Given the description of an element on the screen output the (x, y) to click on. 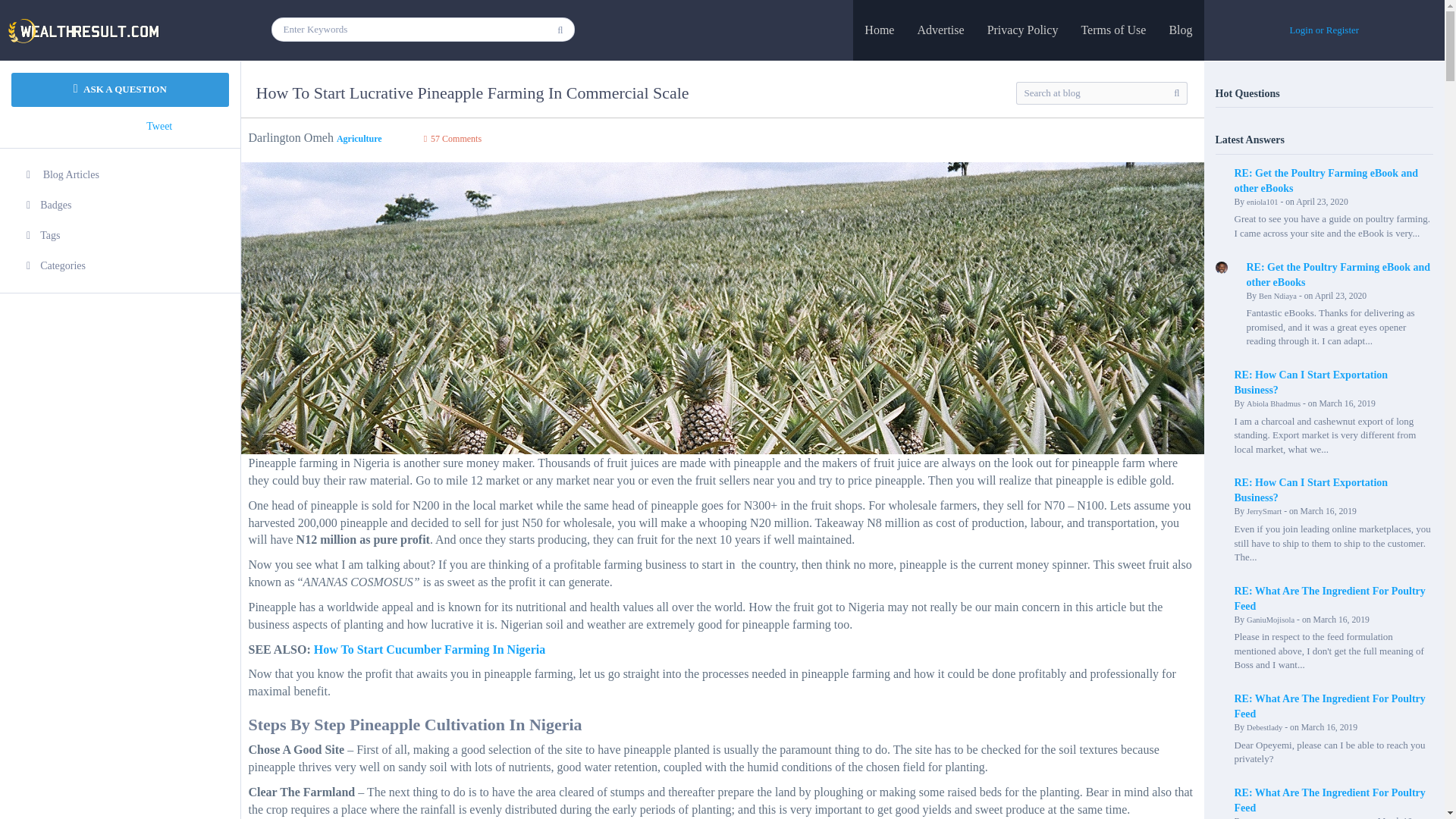
Privacy Policy (1022, 30)
Login or Register (1323, 30)
Terms of Use (1112, 30)
